Given the description of an element on the screen output the (x, y) to click on. 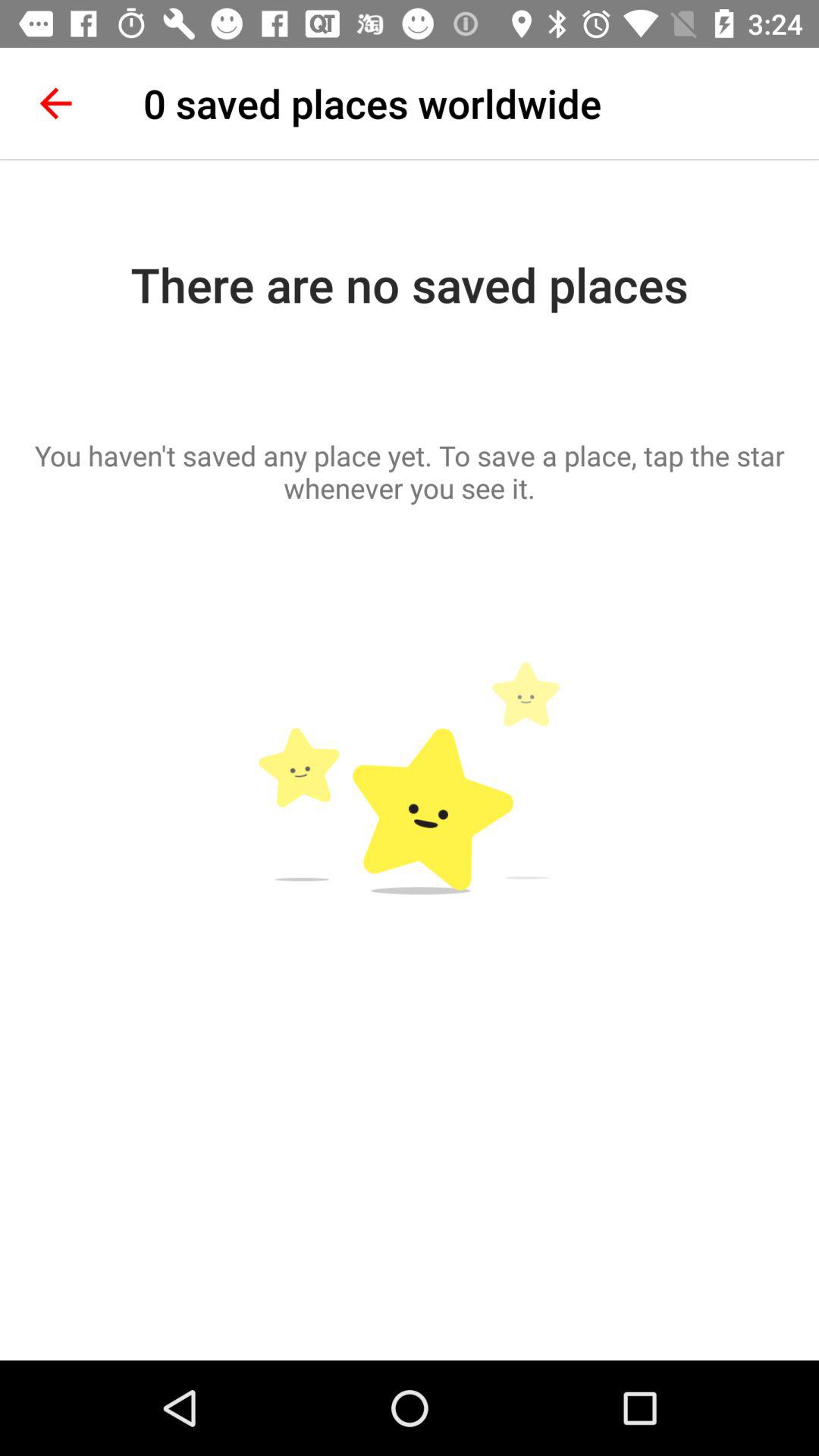
click the item next to the 0 saved places item (55, 103)
